Given the description of an element on the screen output the (x, y) to click on. 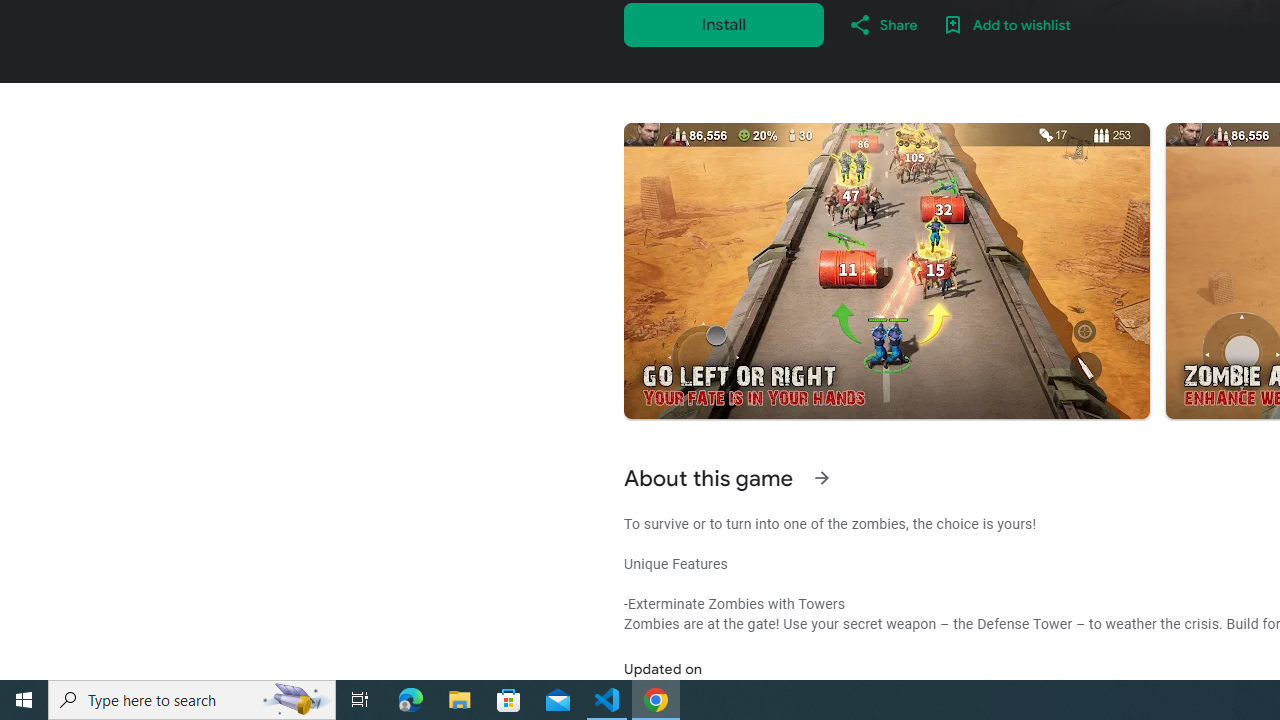
Add to wishlist (1006, 24)
Screenshot image (886, 271)
Install (723, 24)
See more information on About this game (821, 477)
Share (881, 24)
